Given the description of an element on the screen output the (x, y) to click on. 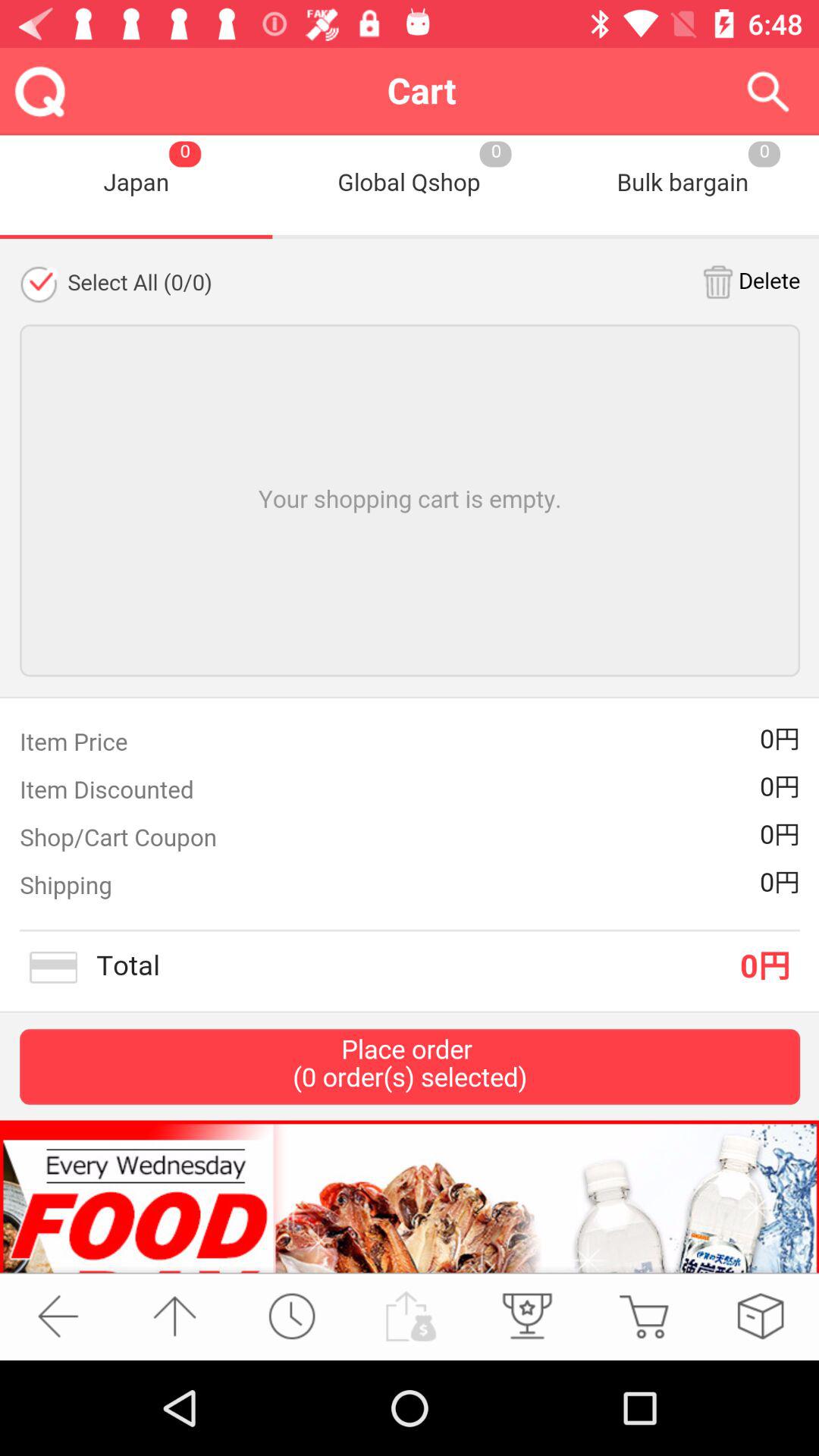
shopping cart (642, 1316)
